Given the description of an element on the screen output the (x, y) to click on. 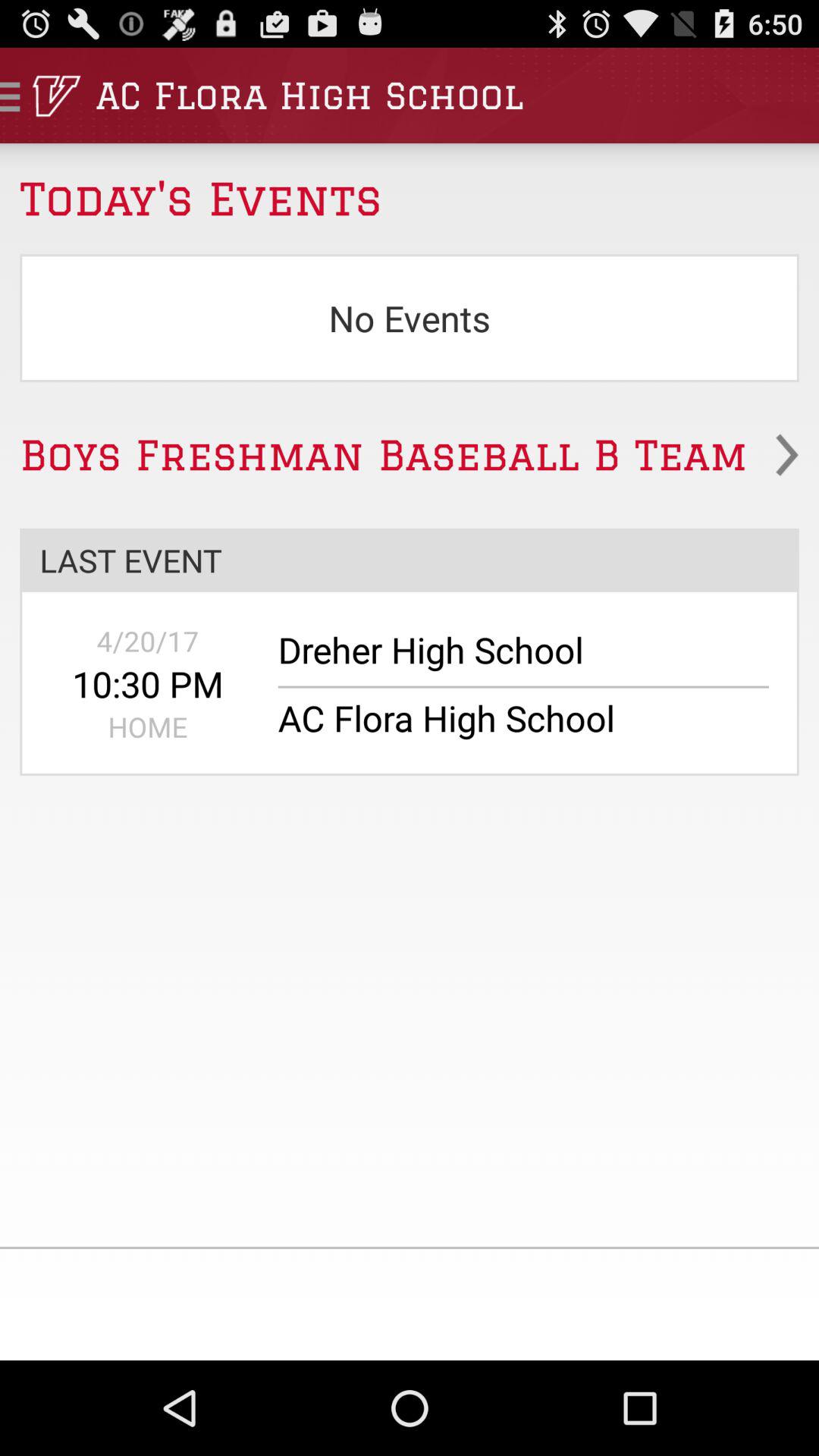
press the dreher high school item (513, 657)
